Given the description of an element on the screen output the (x, y) to click on. 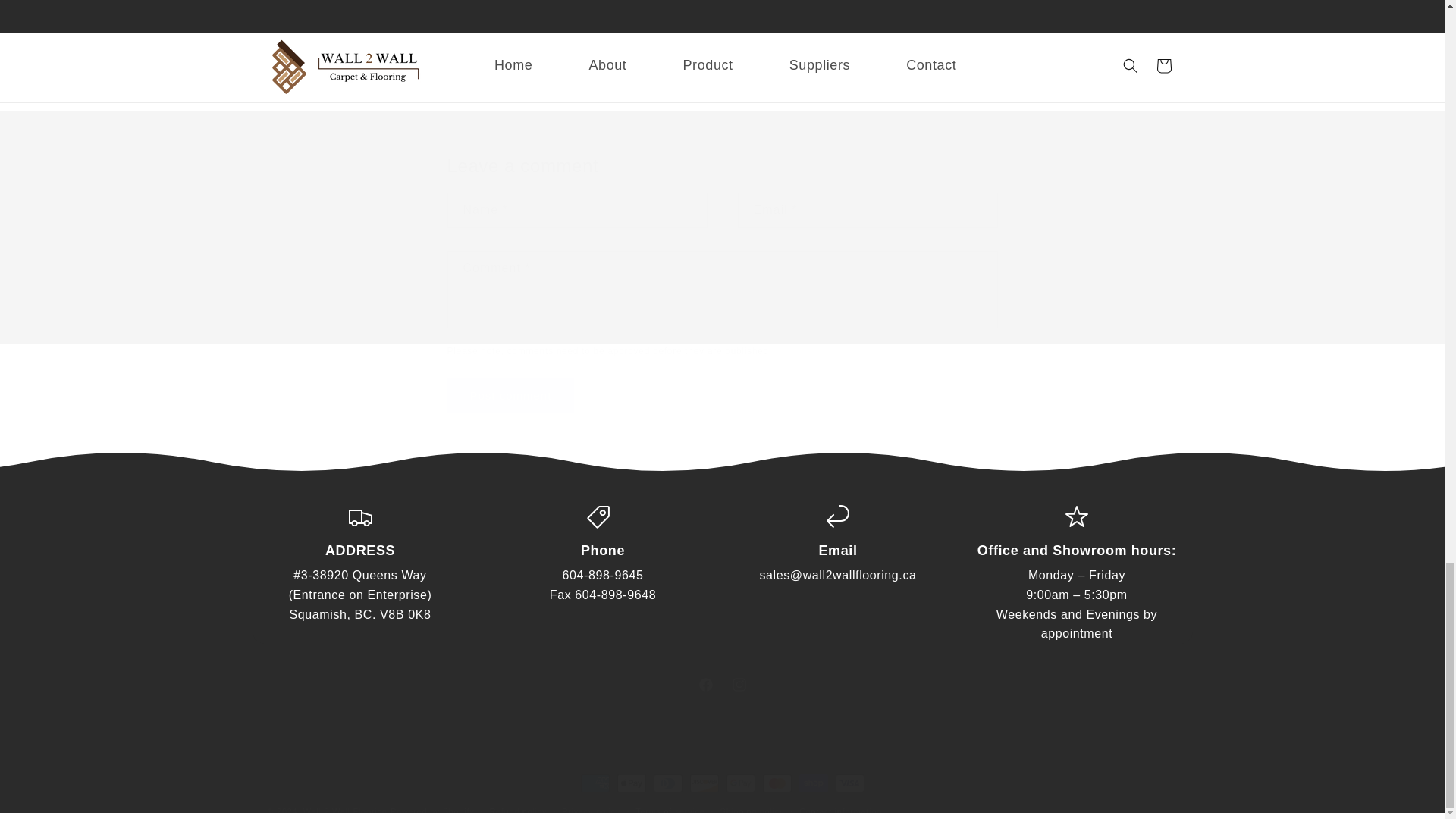
Subfloor Prep Estimation (576, 6)
Facebook (705, 684)
Post comment (510, 395)
For a free flooring estimate, contact us here. (576, 6)
Post comment (721, 684)
Instagram (510, 395)
